Given the description of an element on the screen output the (x, y) to click on. 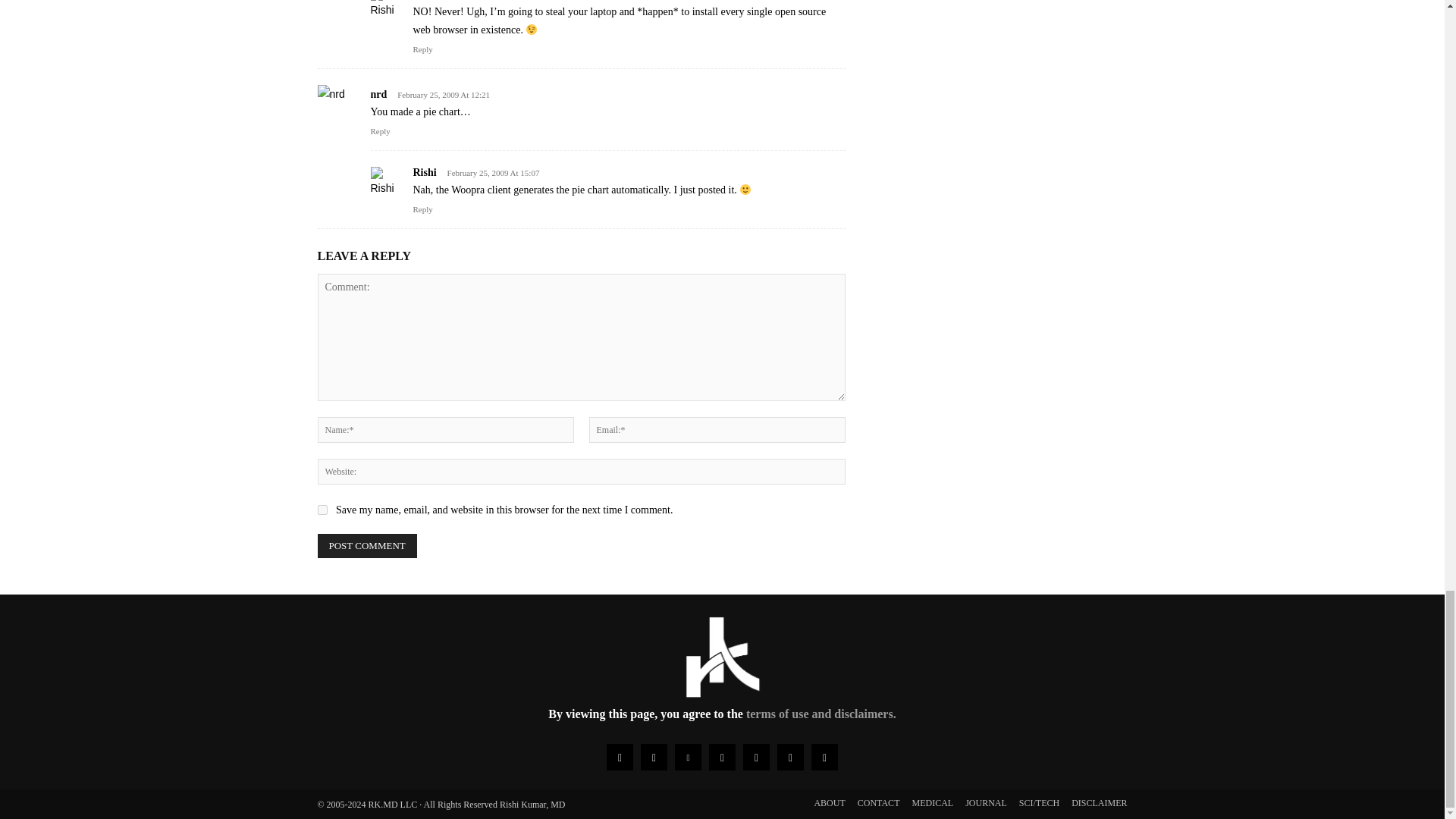
Post Comment (366, 545)
yes (321, 510)
